Given the description of an element on the screen output the (x, y) to click on. 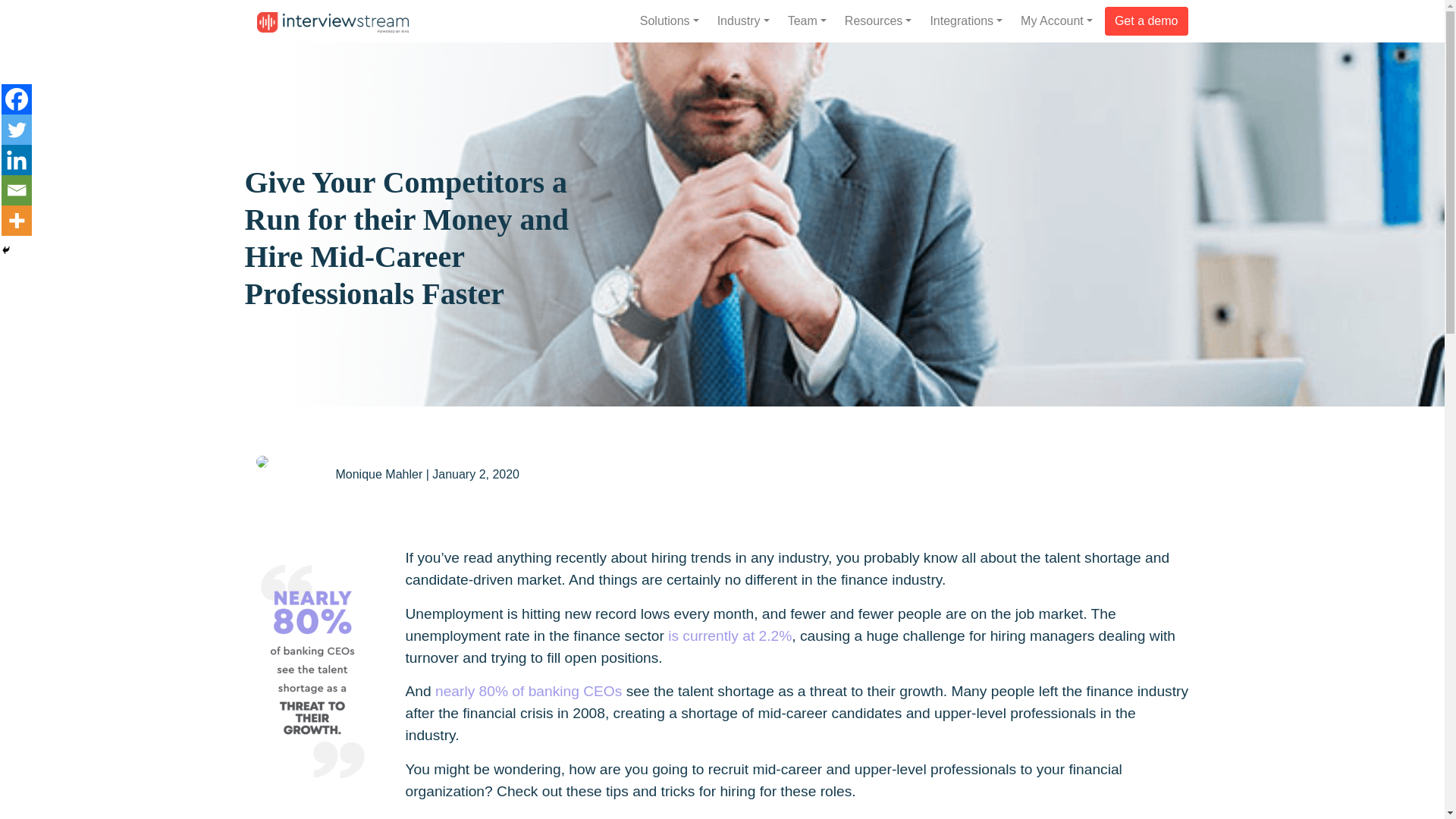
Team (806, 20)
Team (806, 20)
Solutions (668, 20)
Industry (743, 20)
Industry (743, 20)
Integrations (966, 20)
Resources (878, 20)
My Account (1056, 20)
Solutions (668, 20)
InterviewStream - Powered by RIVS (331, 22)
